Given the description of an element on the screen output the (x, y) to click on. 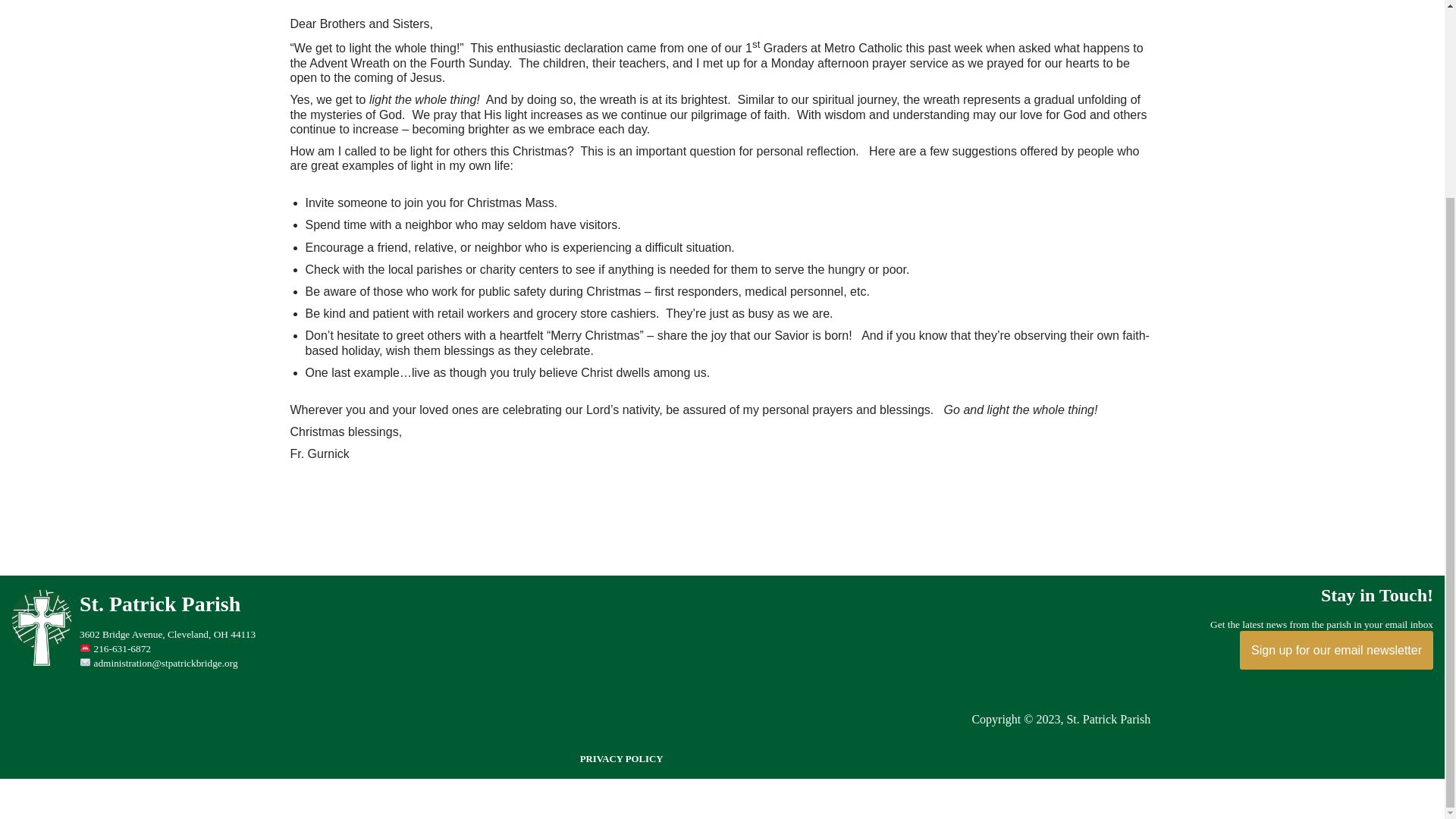
St. Patrick Parish (45, 662)
St. Patrick Parish (349, 629)
St. Patrick Parish (1071, 605)
